Given the description of an element on the screen output the (x, y) to click on. 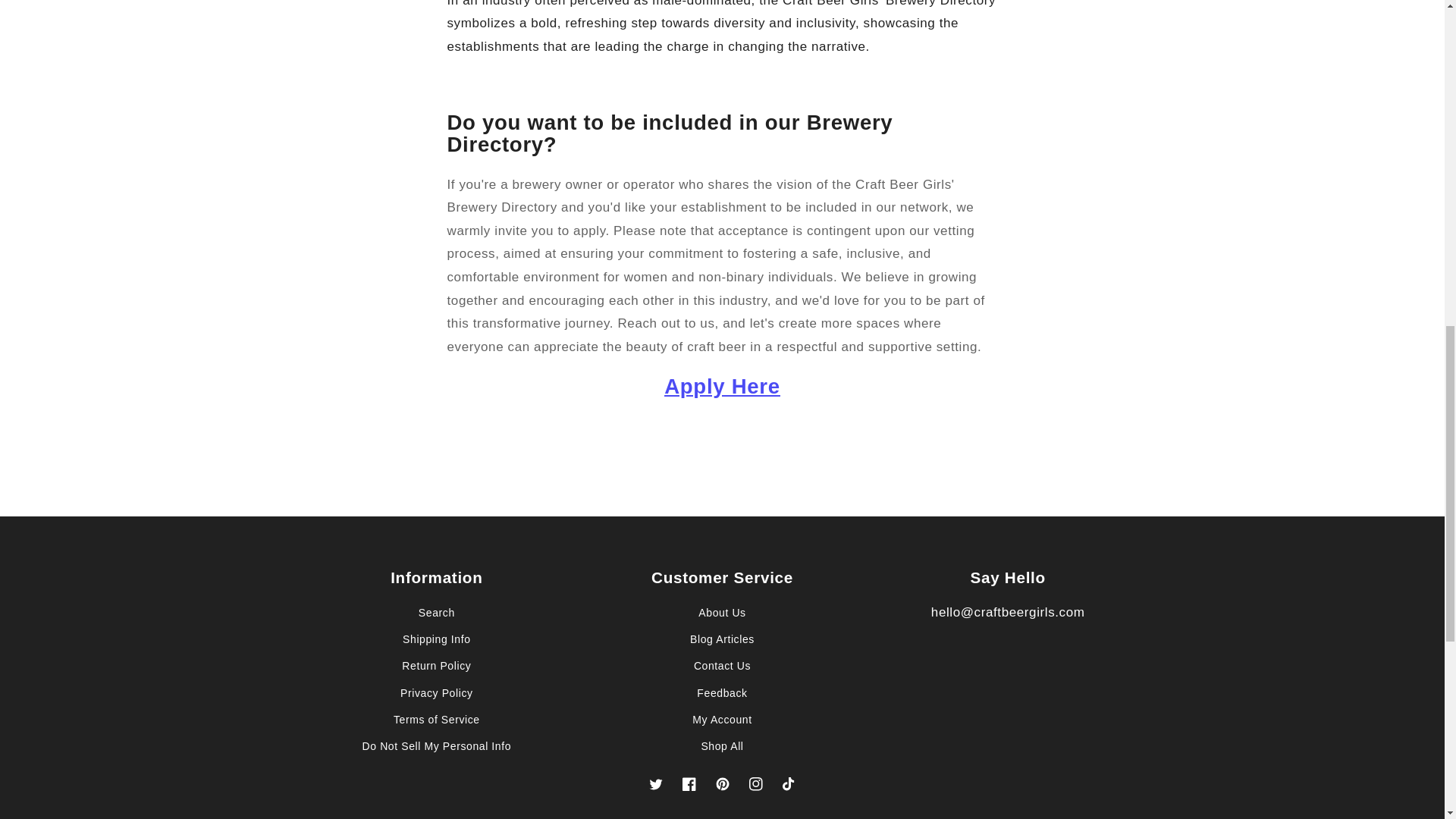
Brewery Directory Application (721, 386)
